Given the description of an element on the screen output the (x, y) to click on. 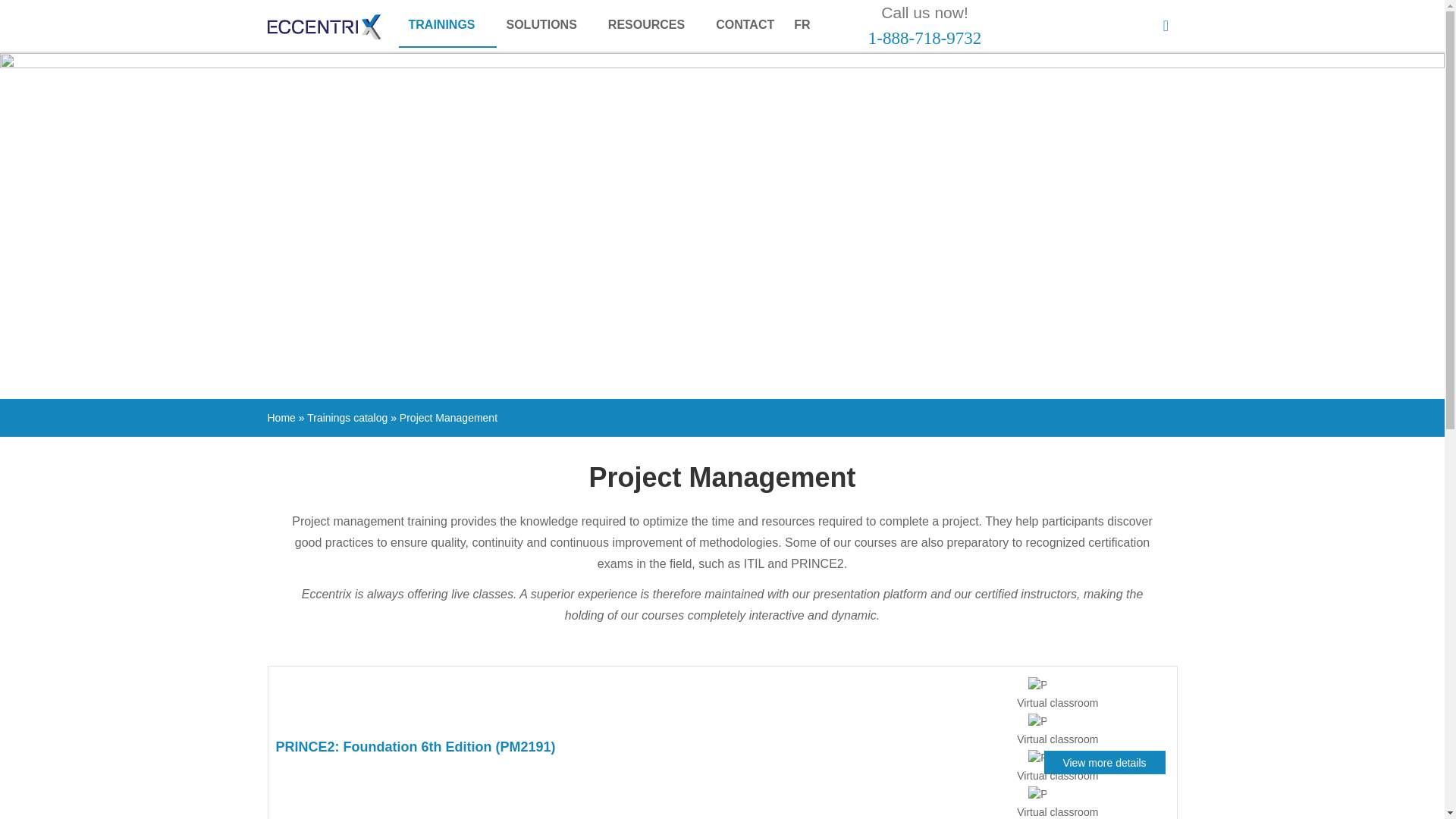
Eccentrix (323, 28)
View more details (1103, 762)
Solutions (546, 24)
1-888-718-9732 (924, 37)
TRAININGS (447, 25)
Home (280, 417)
Resources (652, 24)
Trainings (447, 25)
CONTACT (745, 24)
Trainings catalog (347, 417)
